Given the description of an element on the screen output the (x, y) to click on. 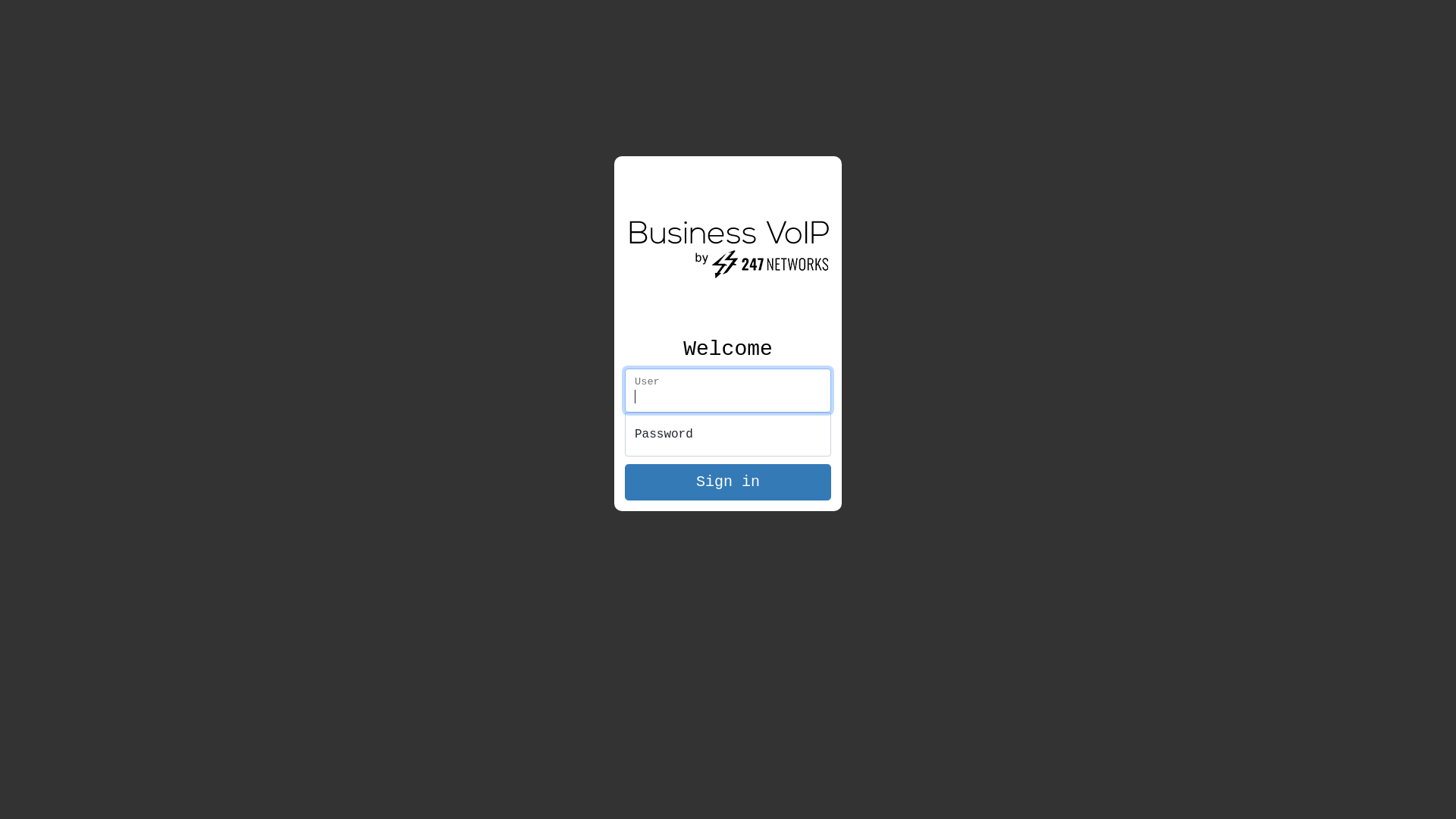
Sign in Element type: text (727, 482)
